Given the description of an element on the screen output the (x, y) to click on. 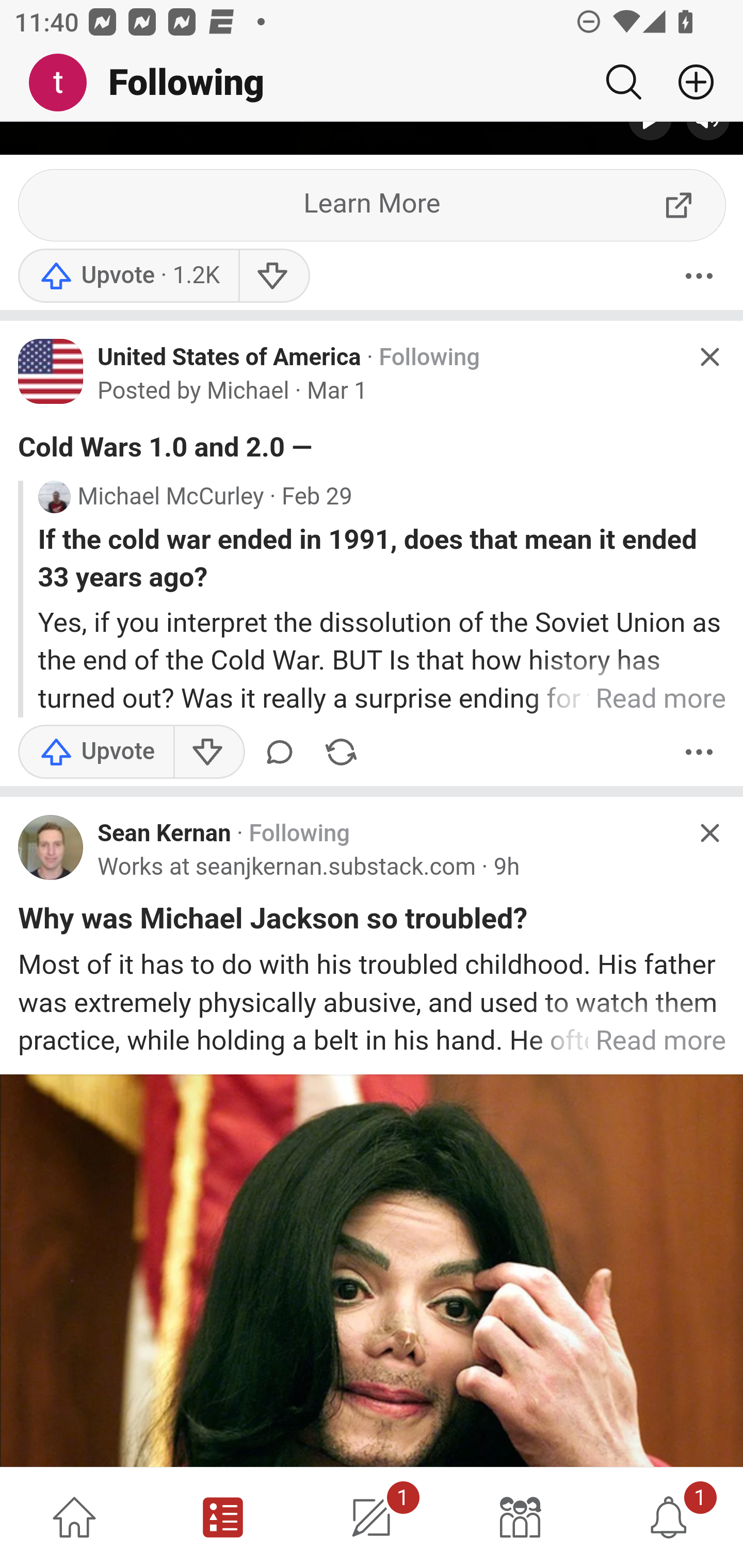
Me (64, 83)
Search (623, 82)
Add (688, 82)
Learn More ExternalLink (372, 207)
Upvote (127, 277)
Downvote (273, 277)
More (699, 277)
Hide (709, 357)
Icon for United States of America (50, 373)
United States of America (229, 358)
Profile photo for Michael McCurley (54, 498)
Upvote (95, 753)
Downvote (208, 753)
Comment (283, 753)
Share (341, 753)
More (699, 753)
Hide (709, 833)
Profile photo for Sean Kernan (50, 848)
Sean Kernan (164, 834)
1 (371, 1517)
1 (668, 1517)
